Given the description of an element on the screen output the (x, y) to click on. 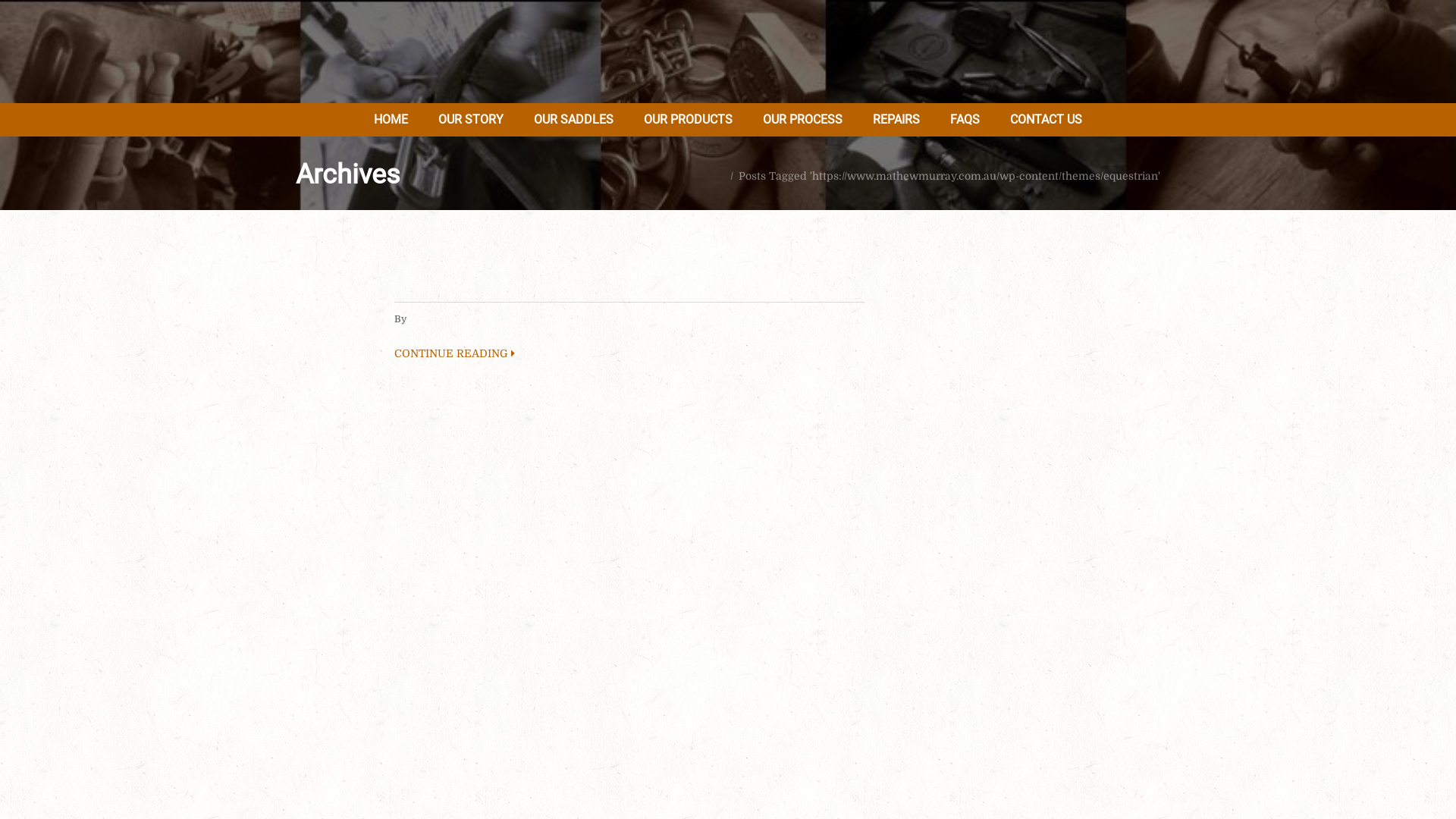
OUR SADDLES Element type: text (573, 119)
OUR STORY Element type: text (470, 119)
HOME Element type: text (390, 119)
OUR PROCESS Element type: text (802, 119)
OUR PRODUCTS Element type: text (687, 119)
CONTACT US Element type: text (1046, 119)
REPAIRS Element type: text (895, 119)
CONTINUE READING Element type: text (629, 353)
FAQS Element type: text (964, 119)
